Given the description of an element on the screen output the (x, y) to click on. 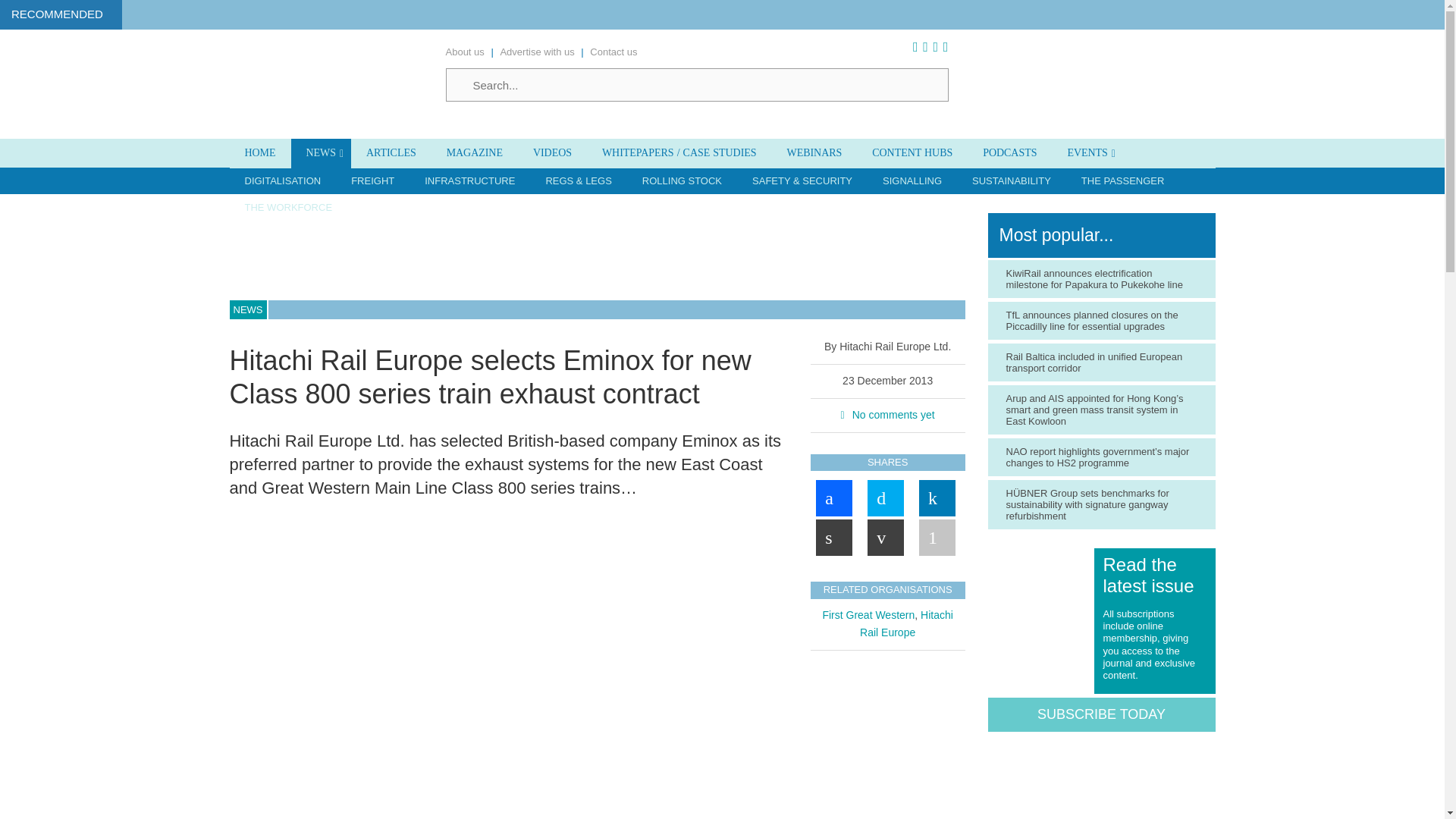
NEWS (320, 152)
Search (697, 84)
About us (464, 51)
HOME (258, 152)
Contact us (613, 51)
Advertise with us (536, 51)
